Given the description of an element on the screen output the (x, y) to click on. 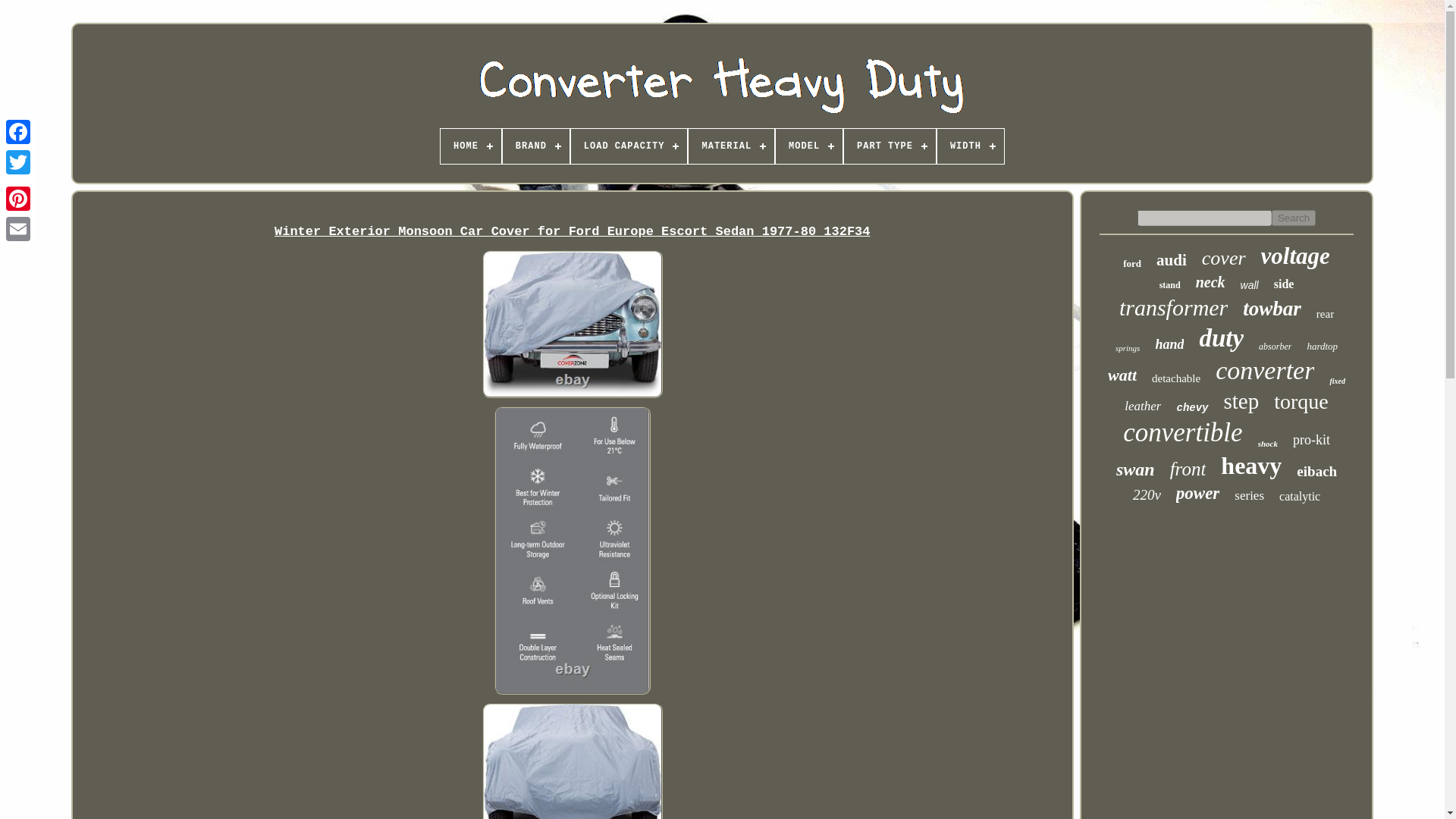
LOAD CAPACITY (628, 145)
Email (17, 228)
BRAND (535, 145)
Search (1293, 217)
HOME (470, 145)
MATERIAL (731, 145)
